Given the description of an element on the screen output the (x, y) to click on. 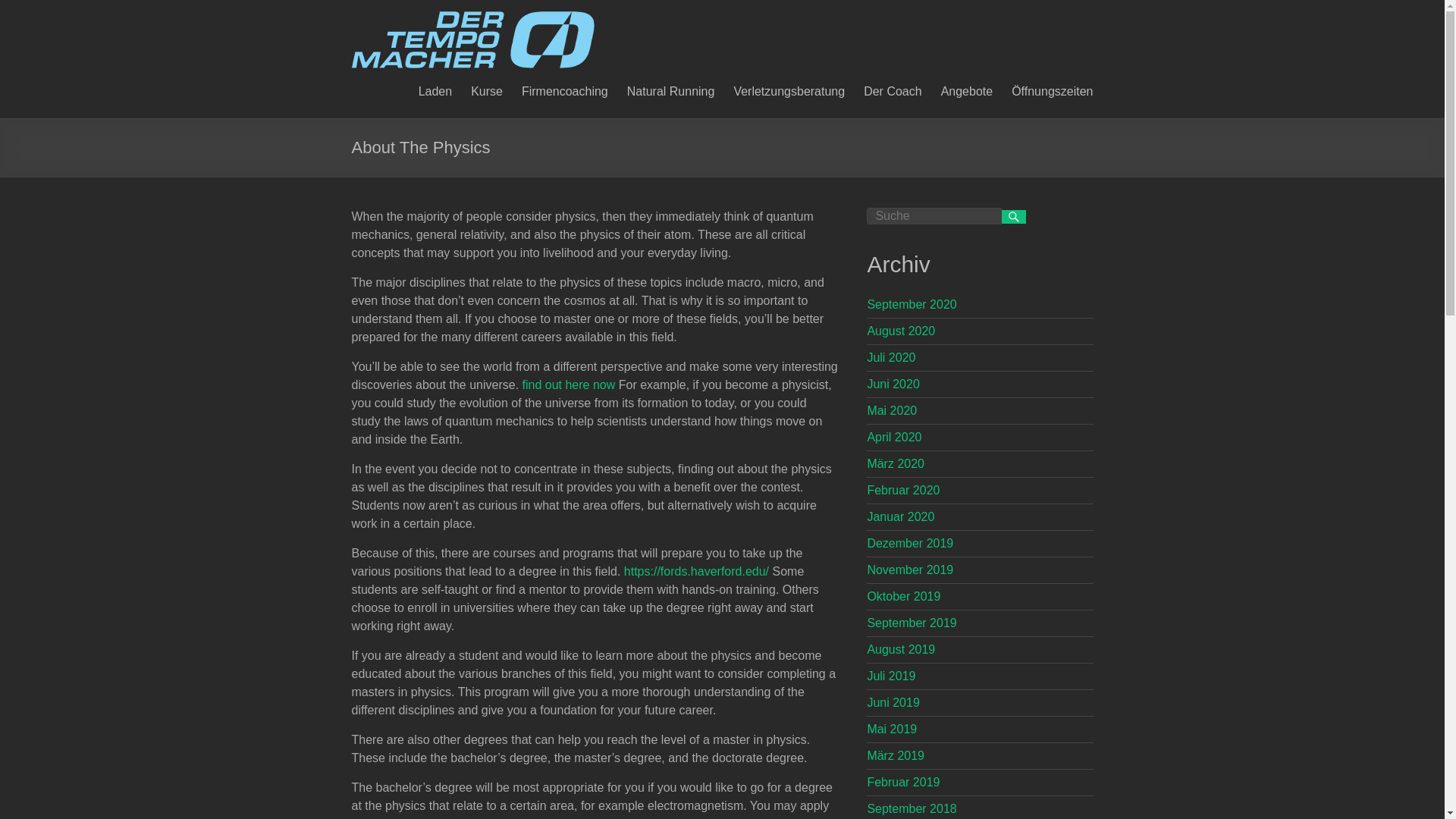
April 2020 (893, 436)
Juli 2020 (890, 357)
Firmencoaching (564, 89)
find out here now (568, 384)
Juni 2020 (892, 383)
Kurse (486, 89)
Laden (435, 89)
Mai 2020 (891, 410)
September 2020 (911, 304)
August 2020 (900, 330)
